Given the description of an element on the screen output the (x, y) to click on. 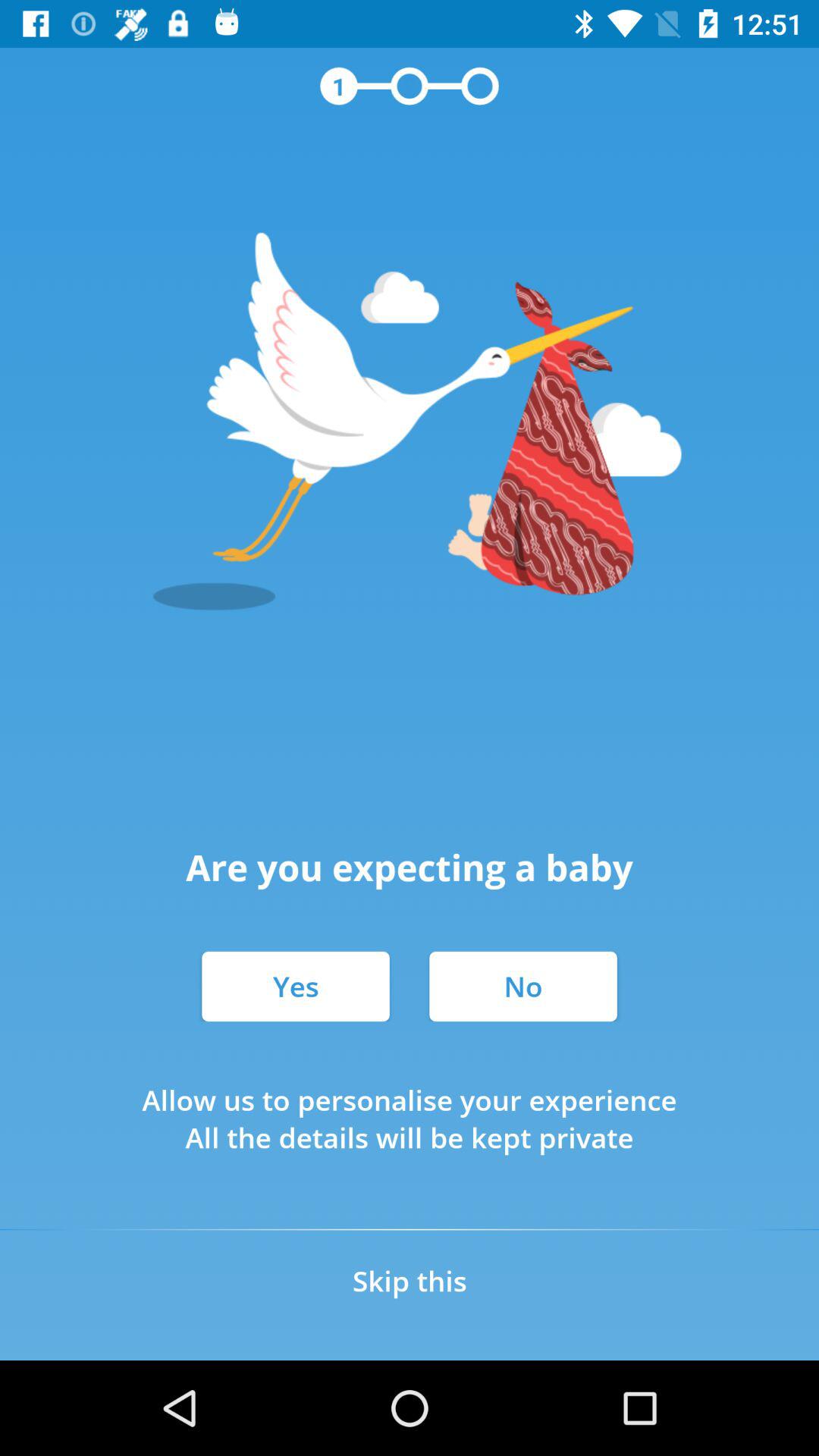
launch yes (295, 986)
